Given the description of an element on the screen output the (x, y) to click on. 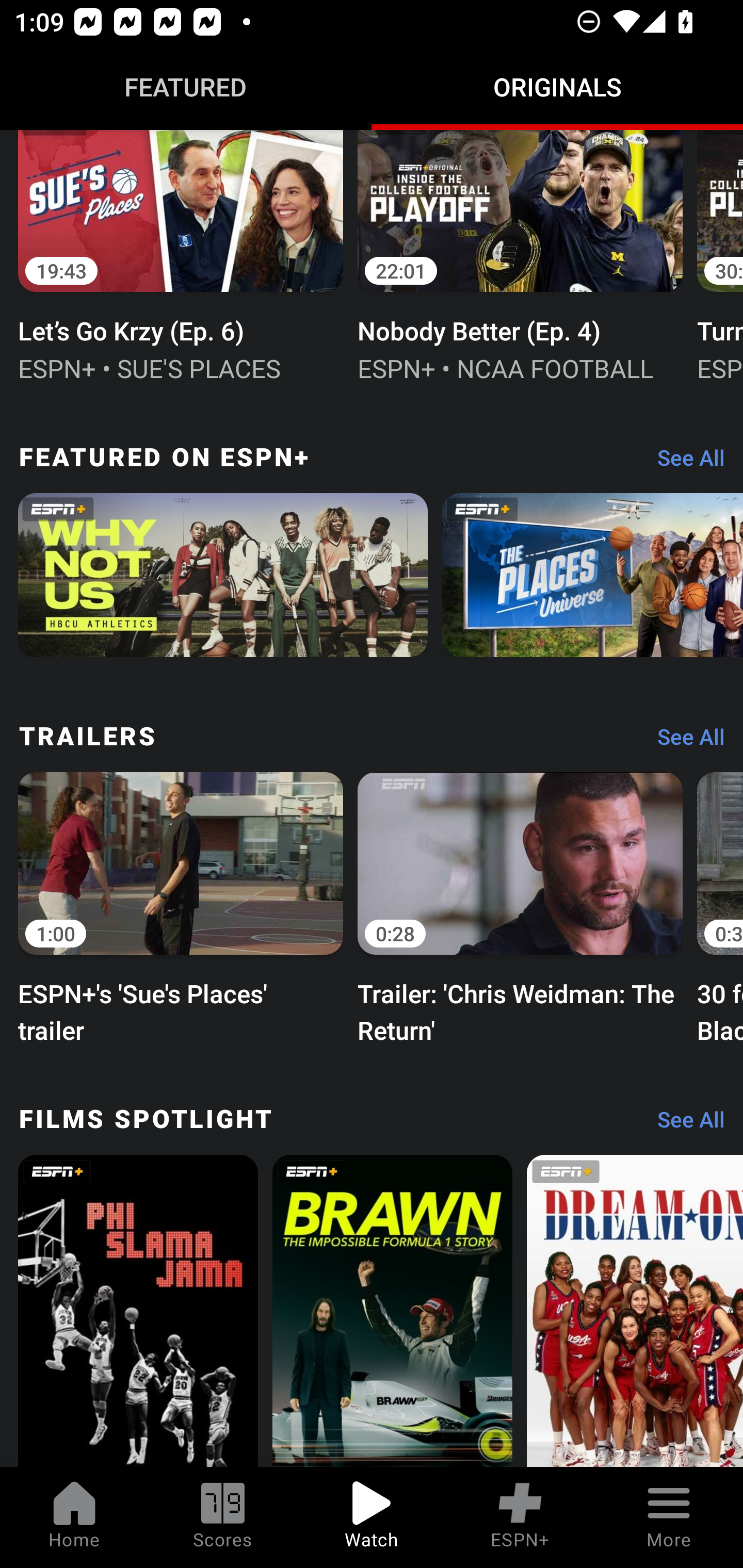
Featured FEATURED (185, 86)
19:43 Let’s Go Krzy (Ep. 6) ESPN+ • SUE'S PLACES (180, 257)
22:01 Nobody Better (Ep. 4) ESPN+ • NCAA FOOTBALL (519, 257)
See All (683, 462)
See All (683, 741)
1:00 ESPN+'s 'Sue's Places' trailer (180, 906)
0:28 Trailer: 'Chris Weidman: The Return' (519, 906)
See All (683, 1123)
Home (74, 1517)
Scores (222, 1517)
ESPN+ (519, 1517)
More (668, 1517)
